Given the description of an element on the screen output the (x, y) to click on. 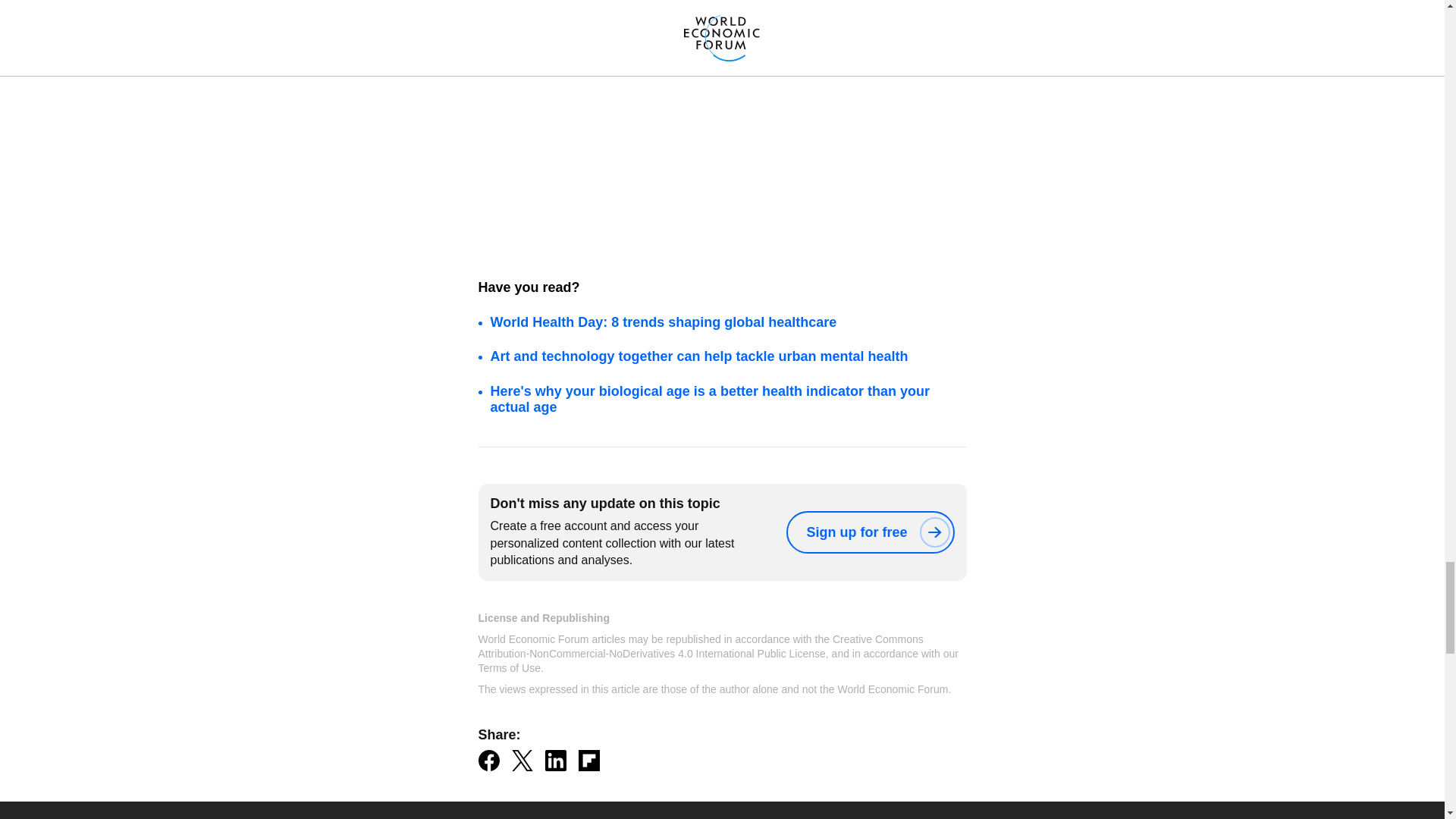
World Health Day: 8 trends shaping global healthcare (662, 322)
Sign up for free (869, 532)
